Given the description of an element on the screen output the (x, y) to click on. 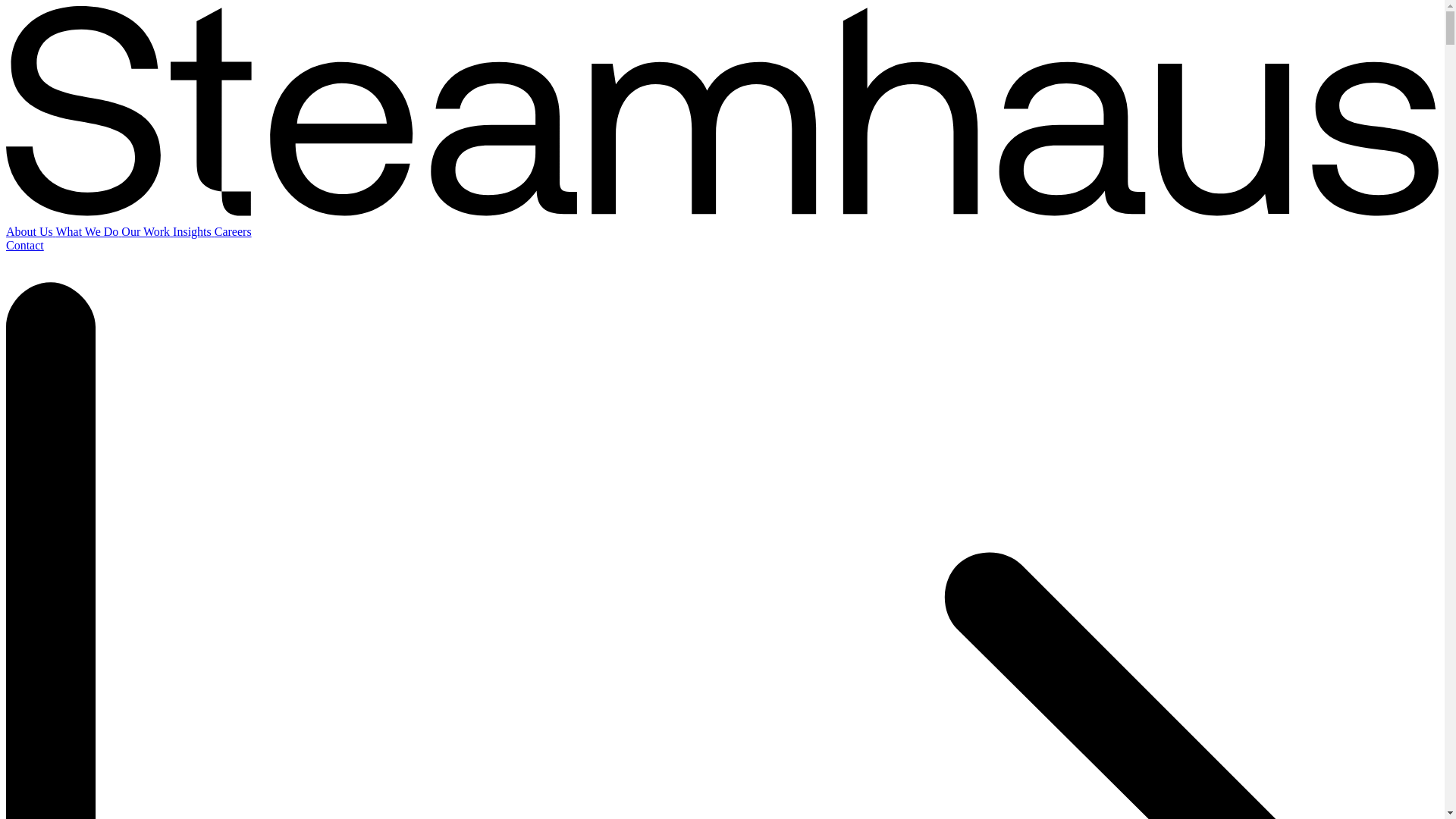
Insights (193, 231)
What We Do (89, 231)
Our Work (146, 231)
Careers (232, 231)
About Us (30, 231)
